Given the description of an element on the screen output the (x, y) to click on. 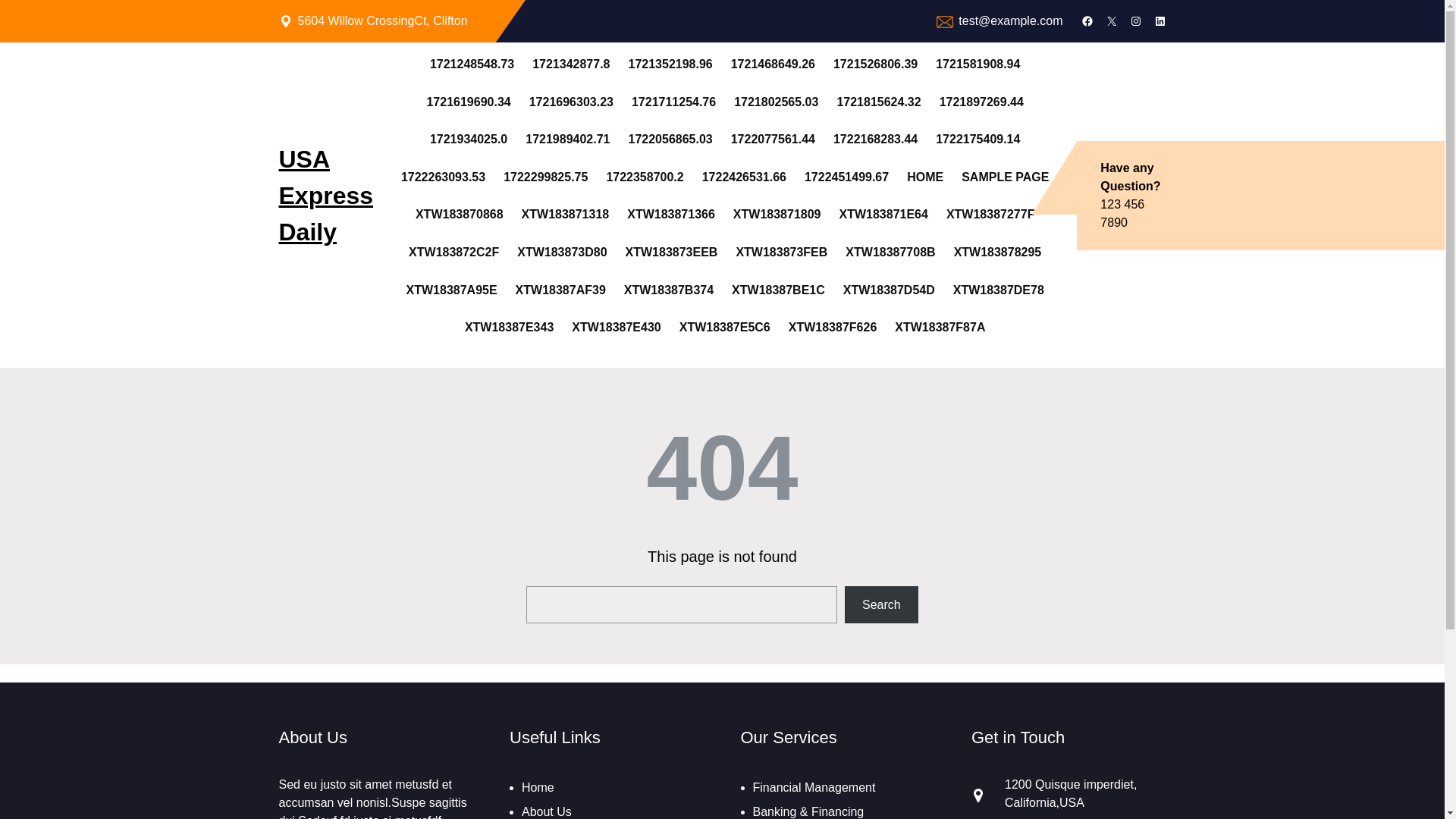
1721989402.71 (567, 139)
XTW183871318 (565, 214)
1721802565.03 (775, 102)
XTW183873D80 (561, 252)
1721342877.8 (571, 64)
1722358700.2 (643, 177)
XTW183871809 (777, 214)
XTW183871E64 (882, 214)
USA Express Daily (326, 195)
1722056865.03 (669, 139)
